Given the description of an element on the screen output the (x, y) to click on. 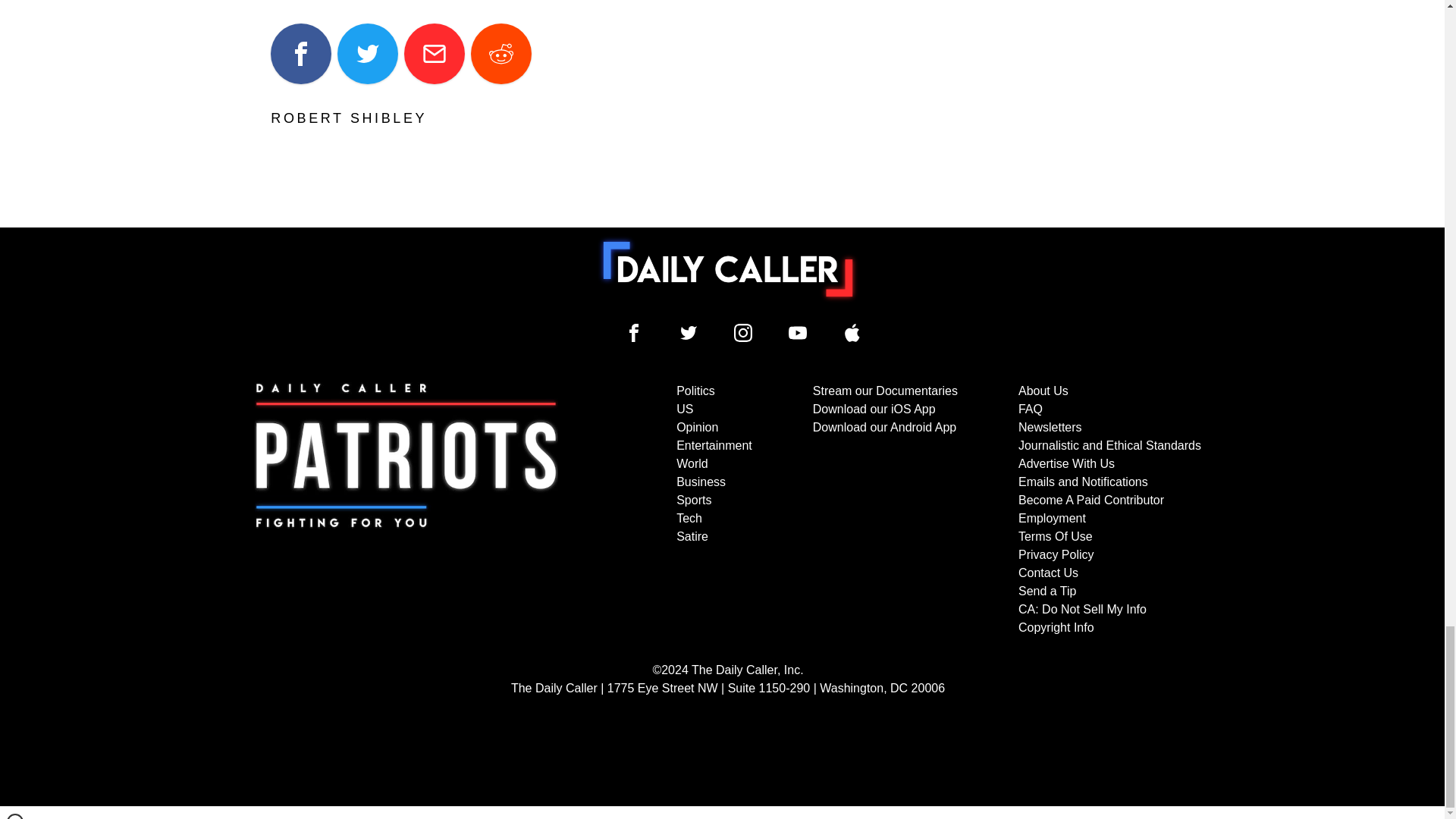
To home page (727, 268)
Daily Caller Twitter (688, 332)
Subscribe to The Daily Caller (405, 509)
Daily Caller Facebook (633, 332)
Daily Caller YouTube (797, 332)
Daily Caller Instagram (742, 332)
Daily Caller YouTube (852, 332)
